Given the description of an element on the screen output the (x, y) to click on. 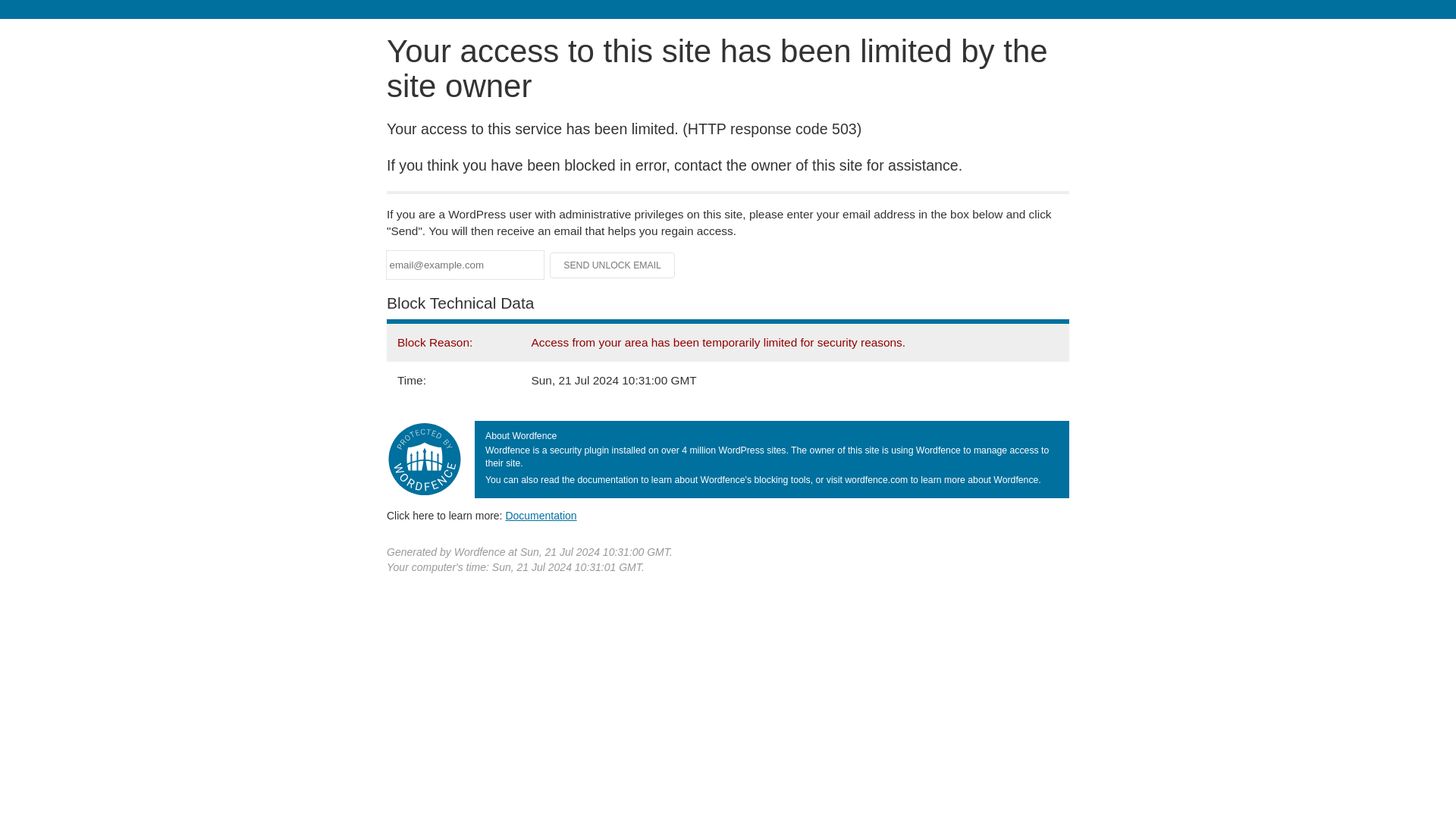
Send Unlock Email (612, 265)
Documentation (540, 515)
Send Unlock Email (612, 265)
